Given the description of an element on the screen output the (x, y) to click on. 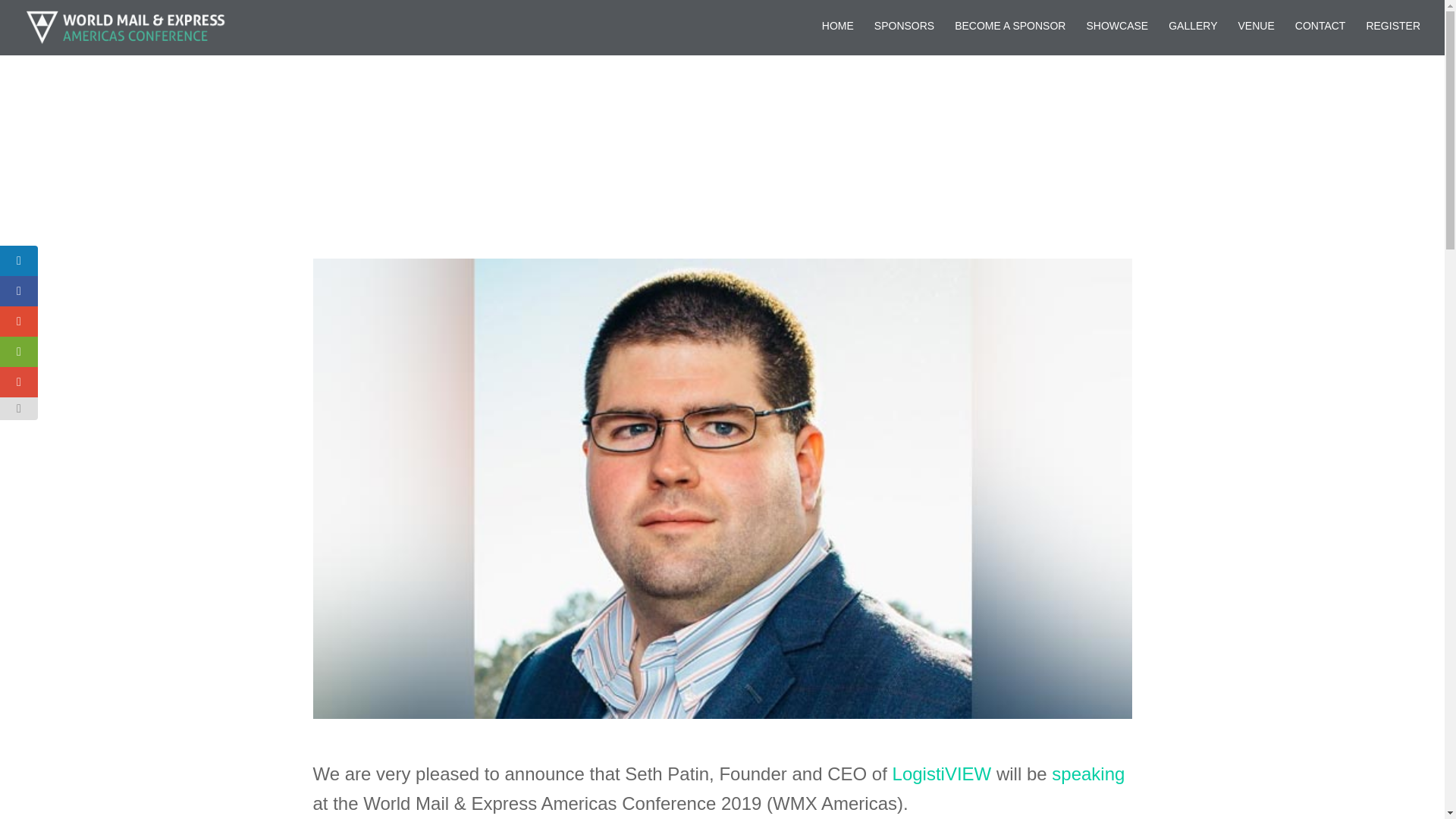
SHOWCASE (1117, 35)
CONTACT (1320, 35)
VENUE (1257, 35)
BECOME A SPONSOR (1010, 35)
SPONSORS (904, 35)
REGISTER (1393, 35)
LogistiVIEW (943, 773)
GALLERY (1193, 35)
2019 Speaker Spotlight (763, 120)
HOME (837, 35)
